Given the description of an element on the screen output the (x, y) to click on. 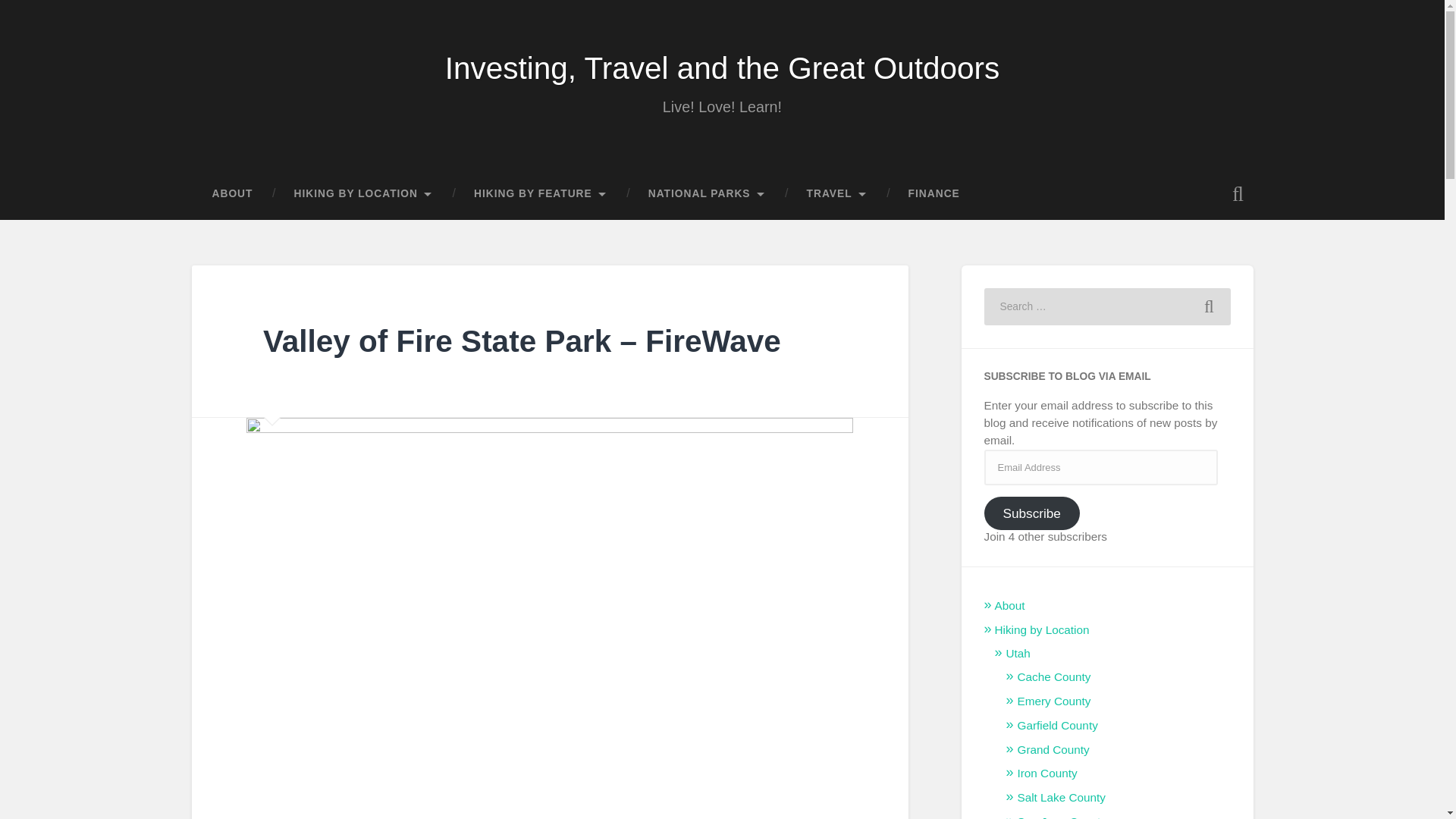
Search (1209, 307)
Investing, Travel and the Great Outdoors (722, 67)
HIKING BY FEATURE (539, 194)
ABOUT (231, 194)
Search (1209, 307)
HIKING BY LOCATION (362, 194)
